Given the description of an element on the screen output the (x, y) to click on. 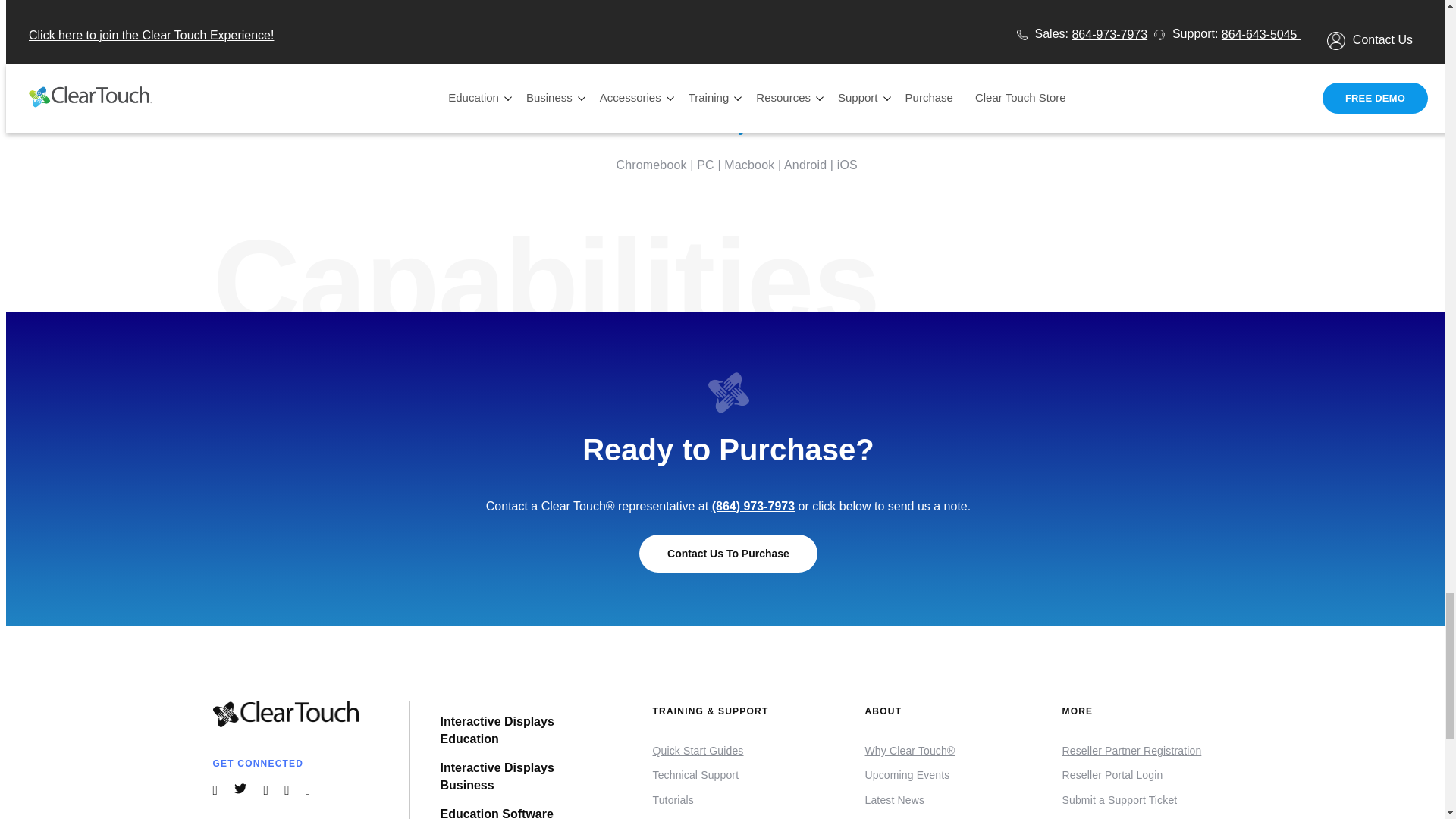
cleartouch-badge (728, 392)
